Given the description of an element on the screen output the (x, y) to click on. 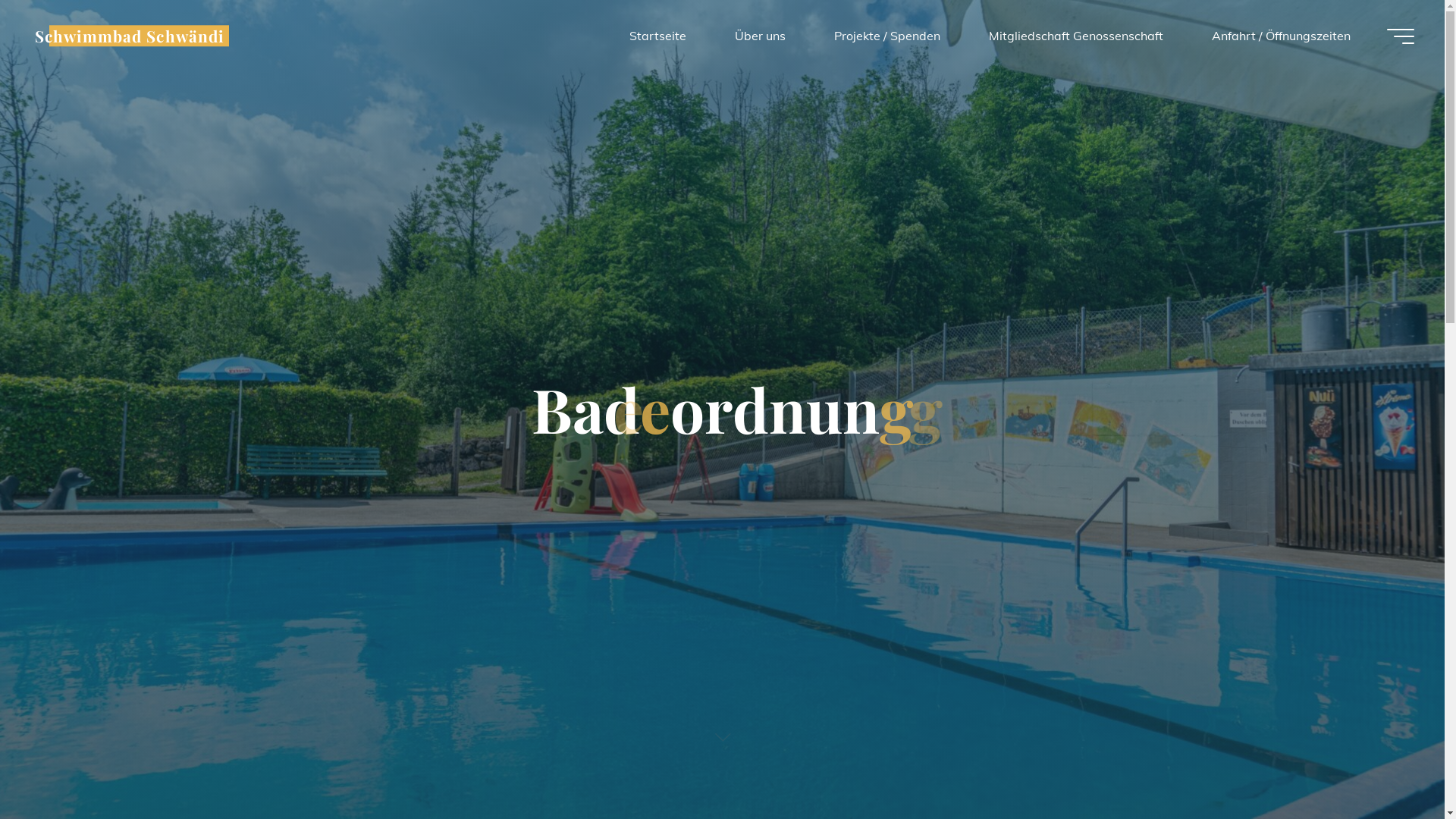
Startseite Element type: text (657, 35)
Mitgliedschaft Genossenschaft Element type: text (1075, 35)
Projekte / Spenden Element type: text (886, 35)
Weiterlesen Element type: hover (721, 726)
